Given the description of an element on the screen output the (x, y) to click on. 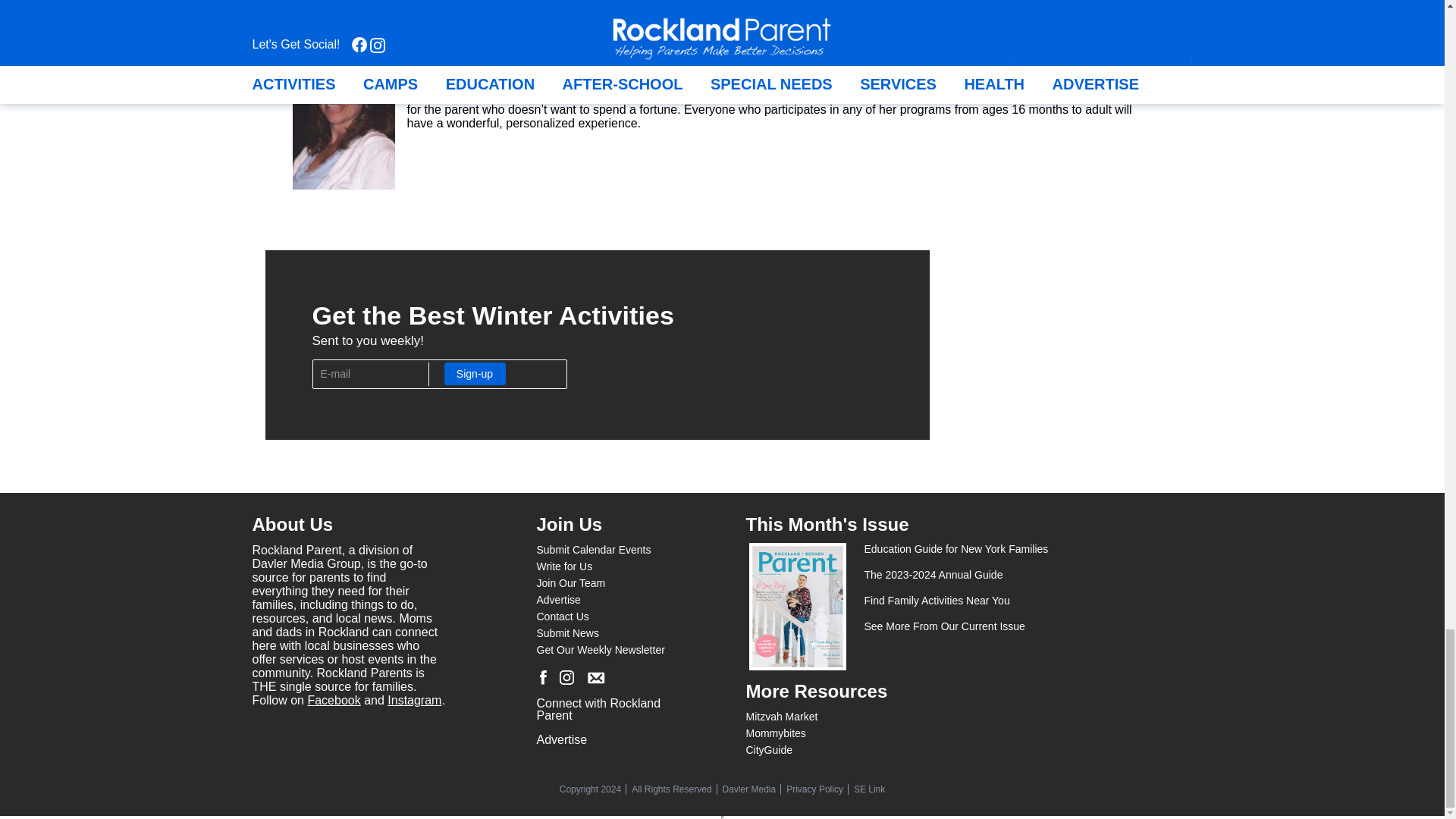
Facebook (333, 699)
Submit News (567, 633)
Instagram (414, 699)
Contact Us (563, 616)
Write for Us (564, 566)
Advertise (558, 599)
Submit Calendar Events (593, 549)
Sign-up (474, 373)
Join Our Team (571, 582)
